Given the description of an element on the screen output the (x, y) to click on. 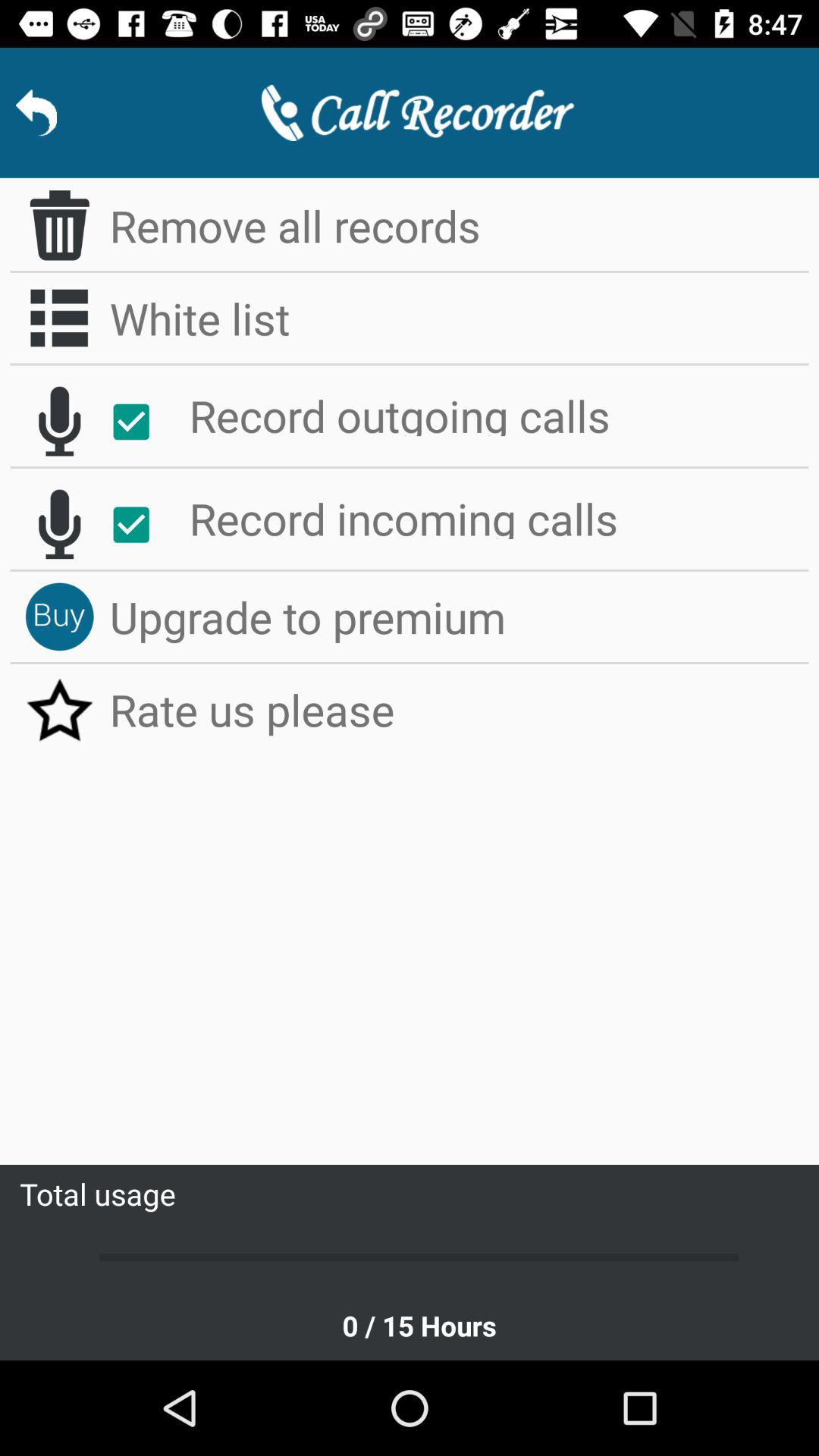
turn on app next to the white list item (59, 318)
